Given the description of an element on the screen output the (x, y) to click on. 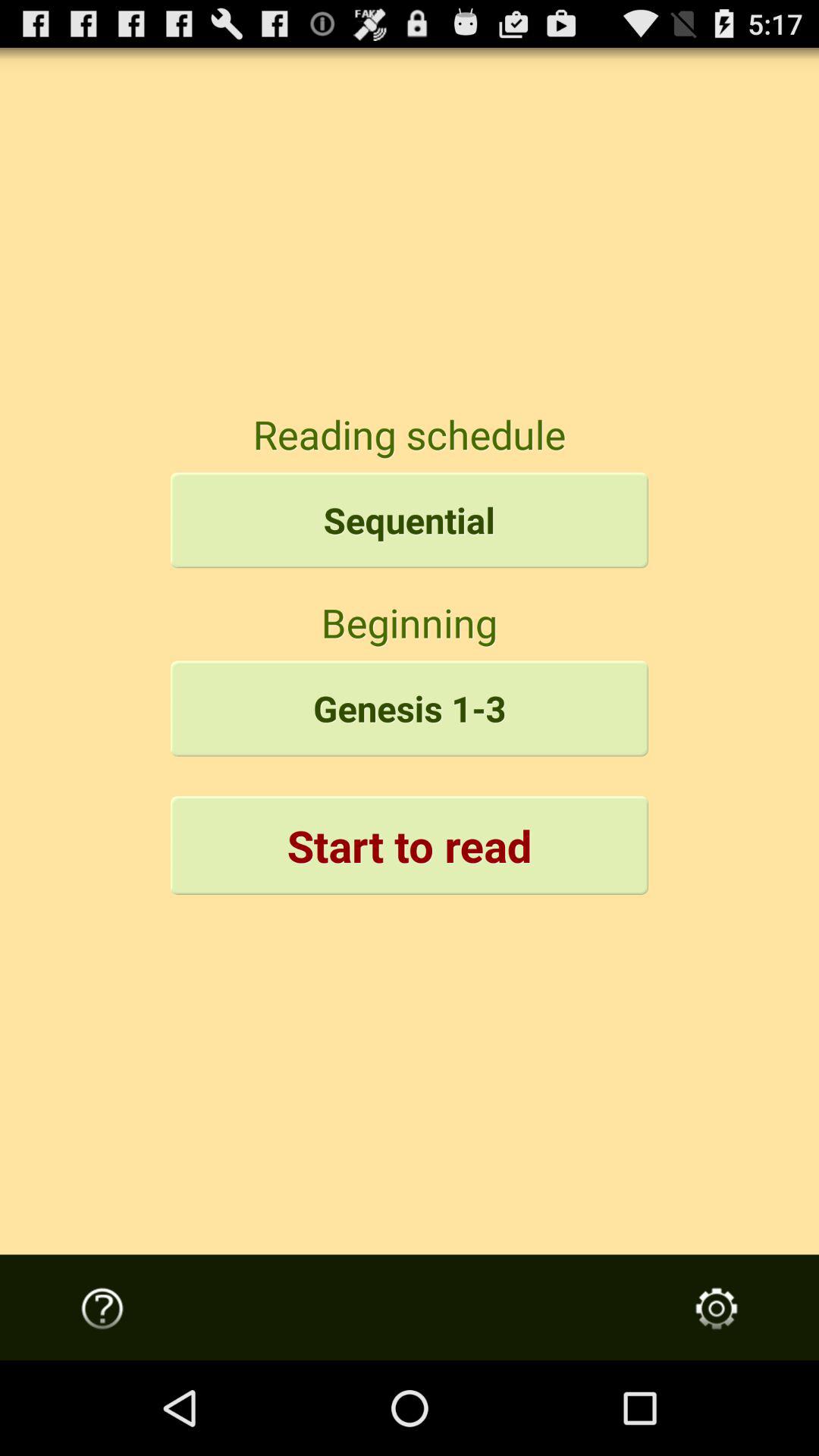
turn on the icon at the bottom left corner (102, 1308)
